Given the description of an element on the screen output the (x, y) to click on. 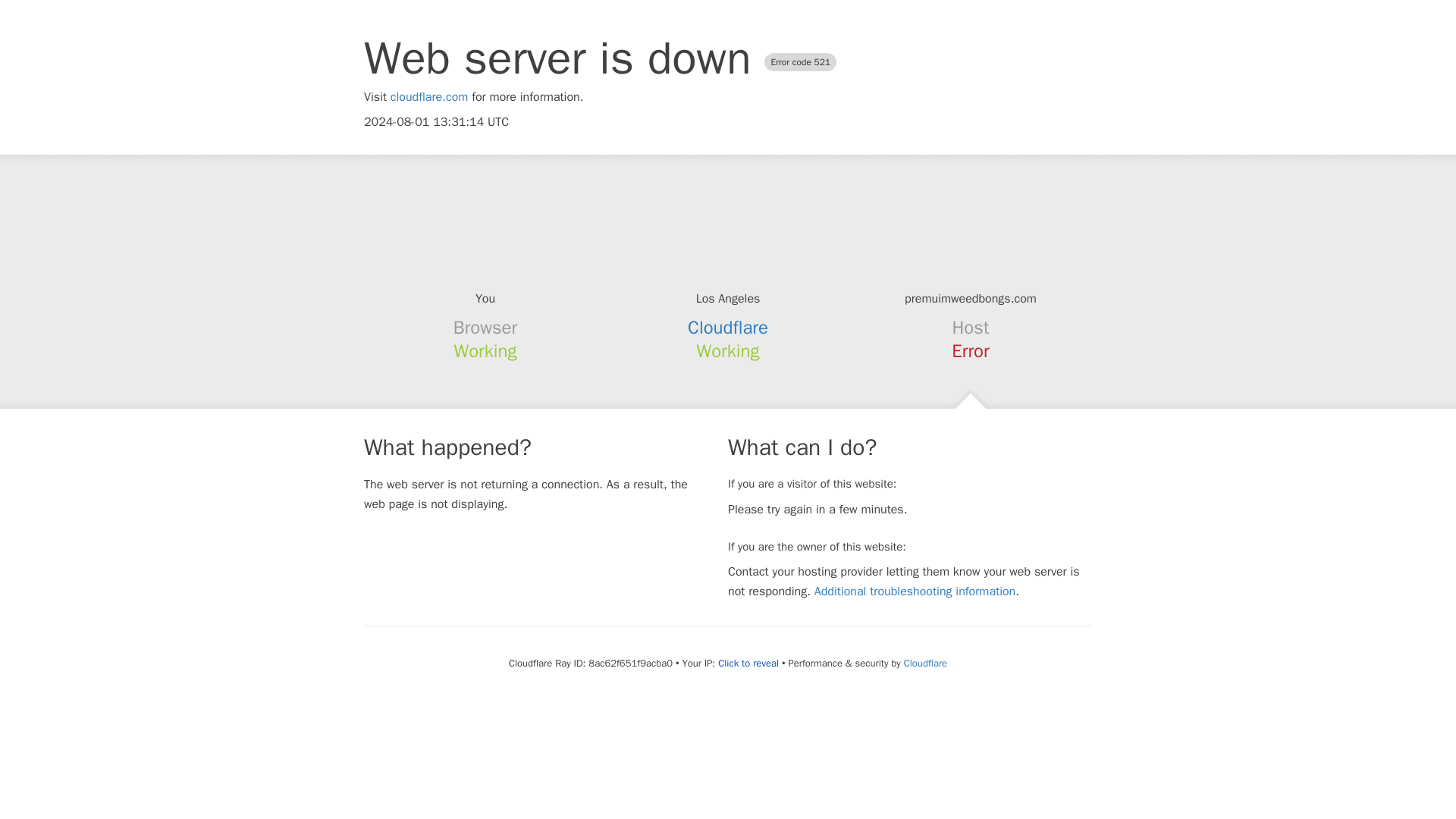
Cloudflare (925, 662)
Click to reveal (747, 663)
cloudflare.com (429, 96)
Additional troubleshooting information (913, 590)
Cloudflare (727, 327)
